Given the description of an element on the screen output the (x, y) to click on. 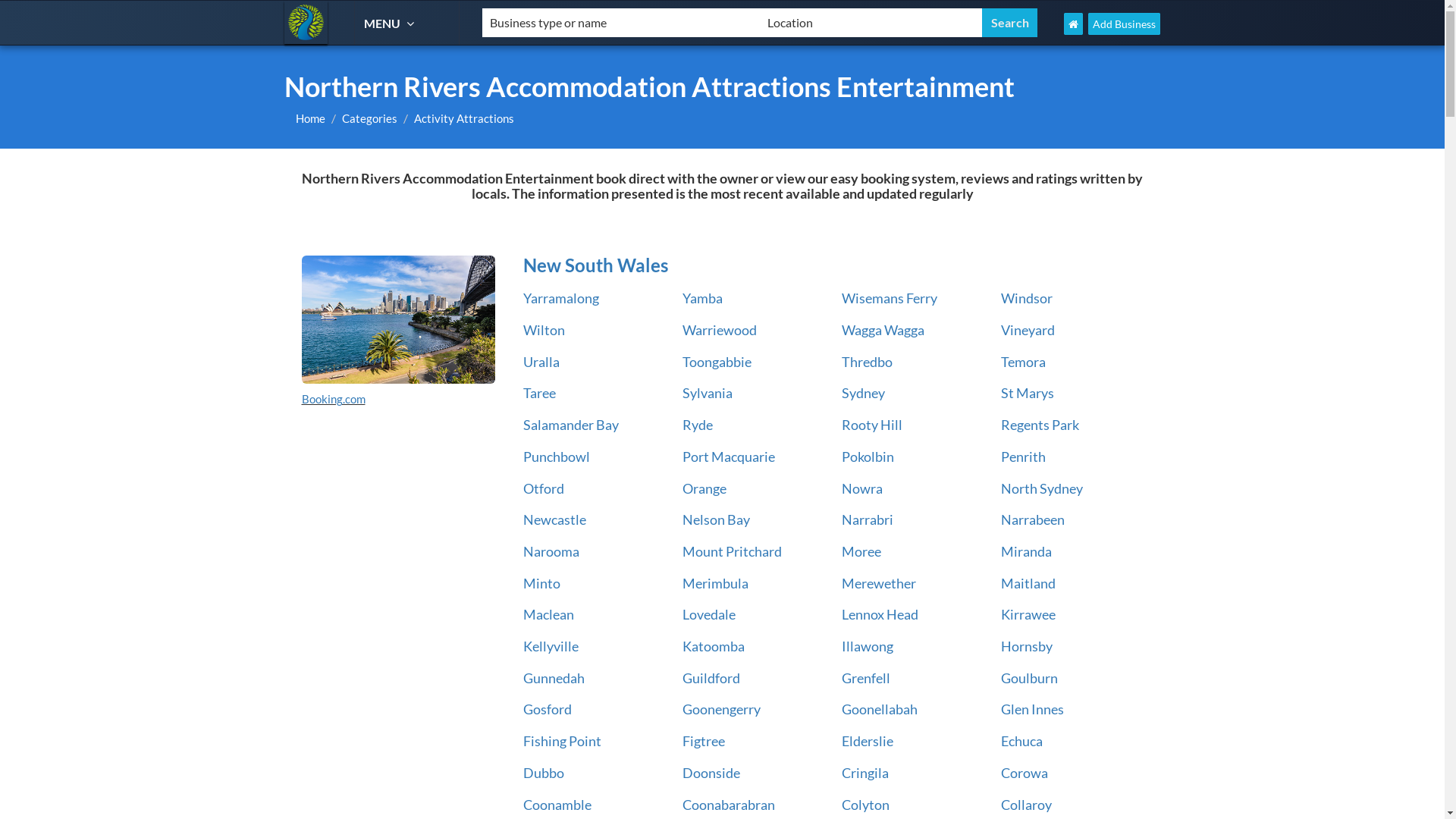
Wagga Wagga Element type: text (882, 329)
Goulburn Element type: text (1029, 677)
Merimbula Element type: text (715, 582)
Add Business Element type: text (1124, 23)
Narrabri Element type: text (867, 519)
Regents Park Element type: text (1040, 424)
Wilton Element type: text (543, 329)
Yarramalong Element type: text (561, 297)
Newcastle Element type: text (554, 519)
Ryde Element type: text (697, 424)
Nowra Element type: text (861, 487)
Northern Rivers Accommodation Home Page Element type: hover (1072, 23)
Northern Rivers Accommodation Element type: hover (305, 21)
Booking.com Element type: text (333, 398)
Rooty Hill Element type: text (871, 424)
Gosford Element type: text (547, 708)
Punchbowl Element type: text (556, 456)
Collaroy Element type: text (1026, 804)
Lovedale Element type: text (708, 613)
Echuca Element type: text (1021, 740)
Home Element type: text (310, 118)
Katoomba Element type: text (713, 645)
Gunnedah Element type: text (553, 677)
Doonside Element type: text (711, 772)
Moree Element type: text (861, 550)
Colyton Element type: text (865, 804)
Taree Element type: text (539, 392)
Search Element type: text (1009, 22)
Windsor Element type: text (1026, 297)
Figtree Element type: text (703, 740)
North Sydney Element type: text (1041, 487)
New South Wales Element type: text (830, 265)
Coonamble Element type: text (557, 804)
Minto Element type: text (541, 582)
Kellyville Element type: text (550, 645)
Lennox Head Element type: text (879, 613)
Cringila Element type: text (864, 772)
Mount Pritchard Element type: text (731, 550)
Illawong Element type: text (867, 645)
MENU Element type: text (390, 22)
Vineyard Element type: text (1027, 329)
Sylvania Element type: text (707, 392)
Toongabbie Element type: text (716, 361)
Salamander Bay Element type: text (570, 424)
Hornsby Element type: text (1026, 645)
Goonellabah Element type: text (879, 708)
Thredbo Element type: text (866, 361)
Narrabeen Element type: text (1032, 519)
Nelson Bay Element type: text (715, 519)
Categories Element type: text (369, 118)
Guildford Element type: text (711, 677)
Elderslie Element type: text (867, 740)
Maclean Element type: text (548, 613)
Penrith Element type: text (1023, 456)
Otford Element type: text (543, 487)
Dubbo Element type: text (543, 772)
Wisemans Ferry Element type: text (889, 297)
Maitland Element type: text (1028, 582)
Corowa Element type: text (1024, 772)
Miranda Element type: text (1026, 550)
Uralla Element type: text (541, 361)
Grenfell Element type: text (865, 677)
Glen Innes Element type: text (1032, 708)
Temora Element type: text (1023, 361)
Pokolbin Element type: text (867, 456)
St Marys Element type: text (1027, 392)
Kirrawee Element type: text (1028, 613)
Activity Attractions Element type: text (464, 118)
Warriewood Element type: text (719, 329)
Fishing Point Element type: text (562, 740)
Merewether Element type: text (878, 582)
Port Macquarie Element type: text (728, 456)
Narooma Element type: text (551, 550)
Yamba Element type: text (702, 297)
Coonabarabran Element type: text (728, 804)
Goonengerry Element type: text (721, 708)
Sydney Element type: text (862, 392)
New South Wales Element type: hover (398, 319)
Orange Element type: text (704, 487)
